Given the description of an element on the screen output the (x, y) to click on. 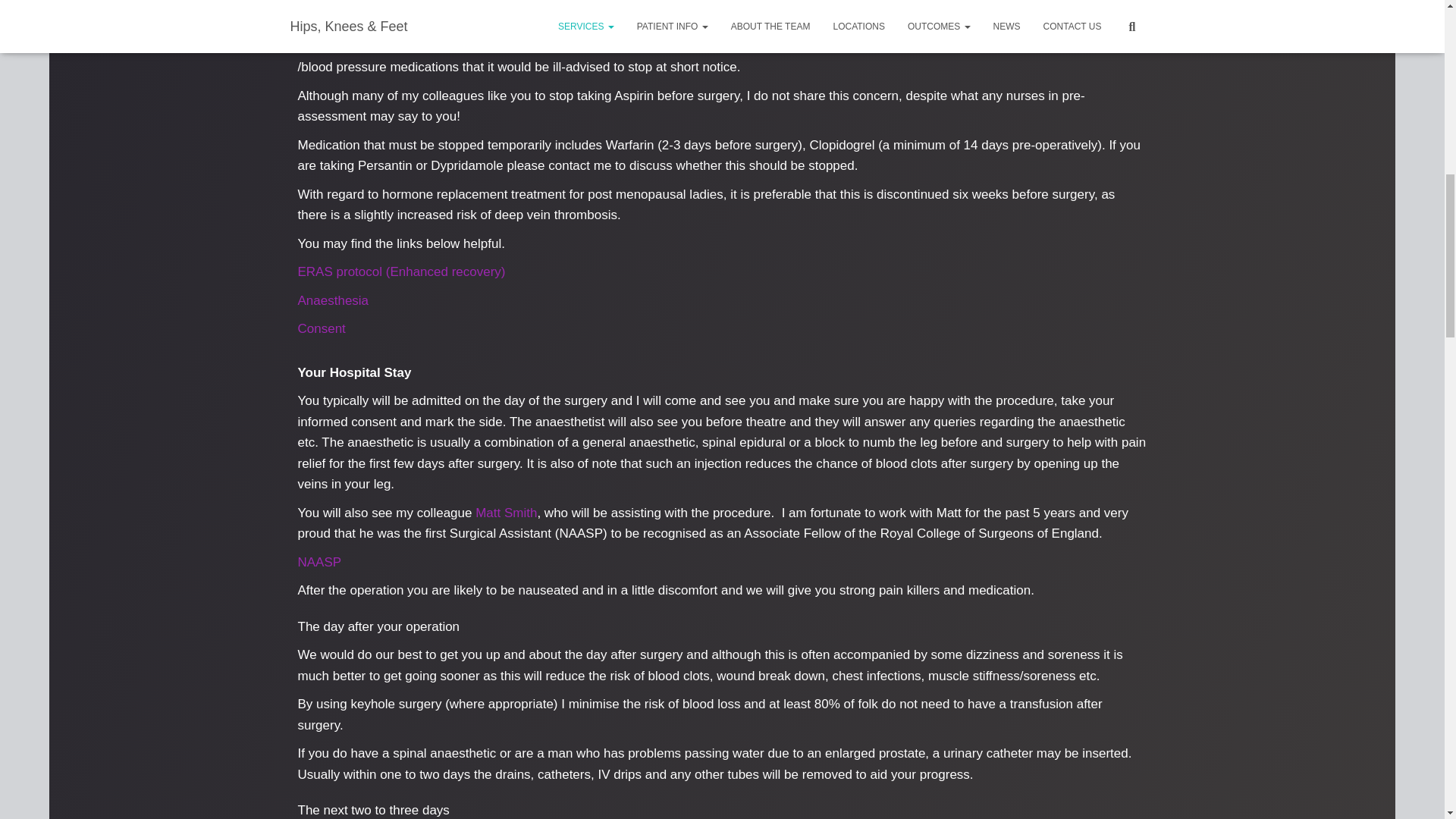
Anaesthesia  (334, 300)
Consent (321, 328)
Matt Smith (506, 513)
NAASP (318, 562)
